Given the description of an element on the screen output the (x, y) to click on. 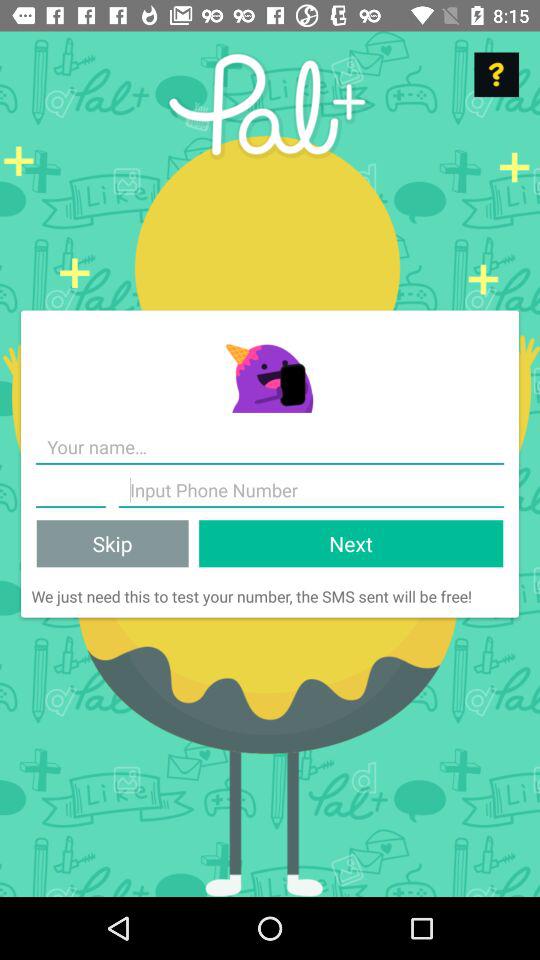
choose item next to next (112, 543)
